Given the description of an element on the screen output the (x, y) to click on. 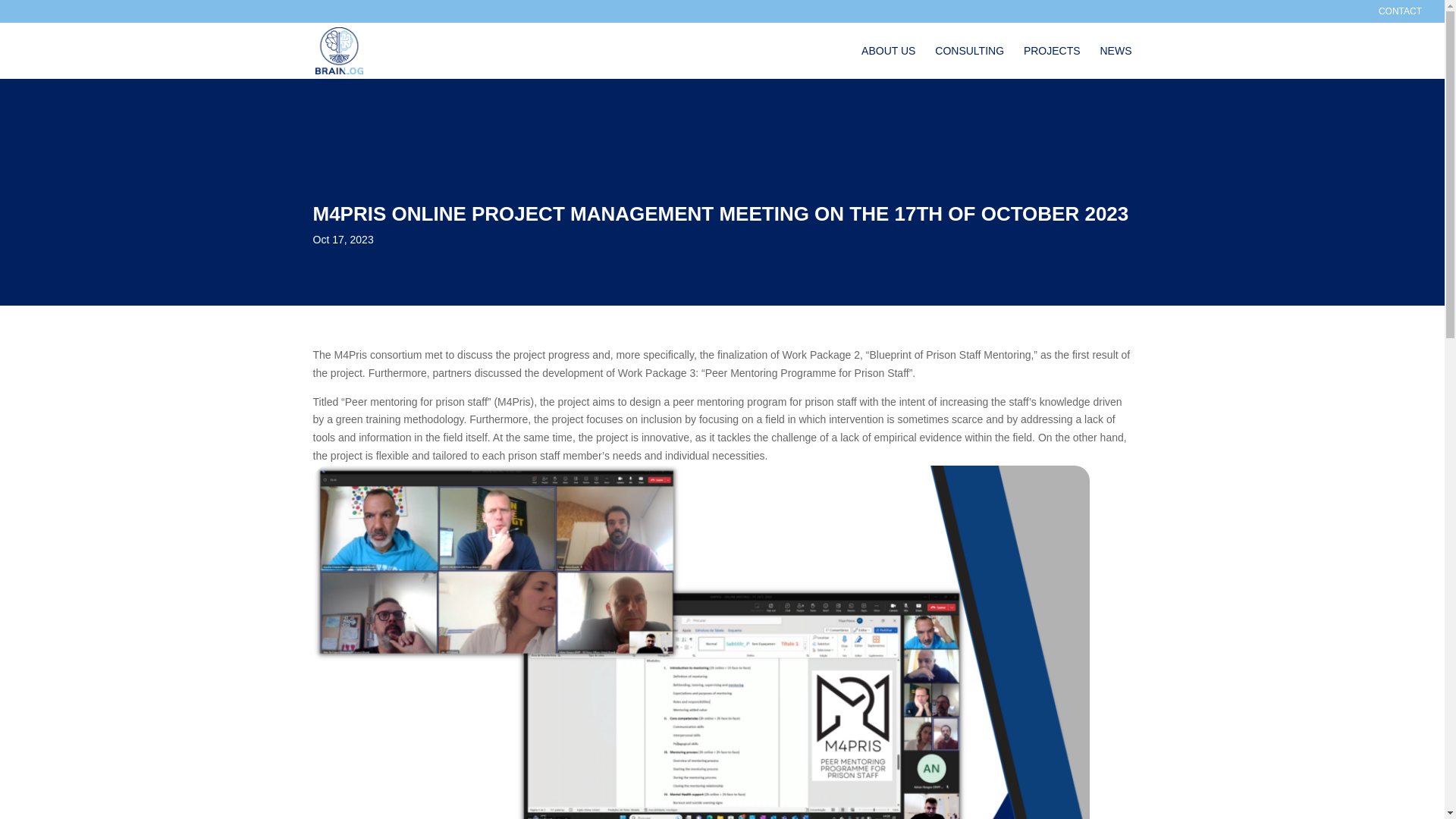
NEWS (1115, 61)
CONTACT (1400, 14)
PROJECTS (1051, 61)
ABOUT US (888, 61)
CONSULTING (969, 61)
